Given the description of an element on the screen output the (x, y) to click on. 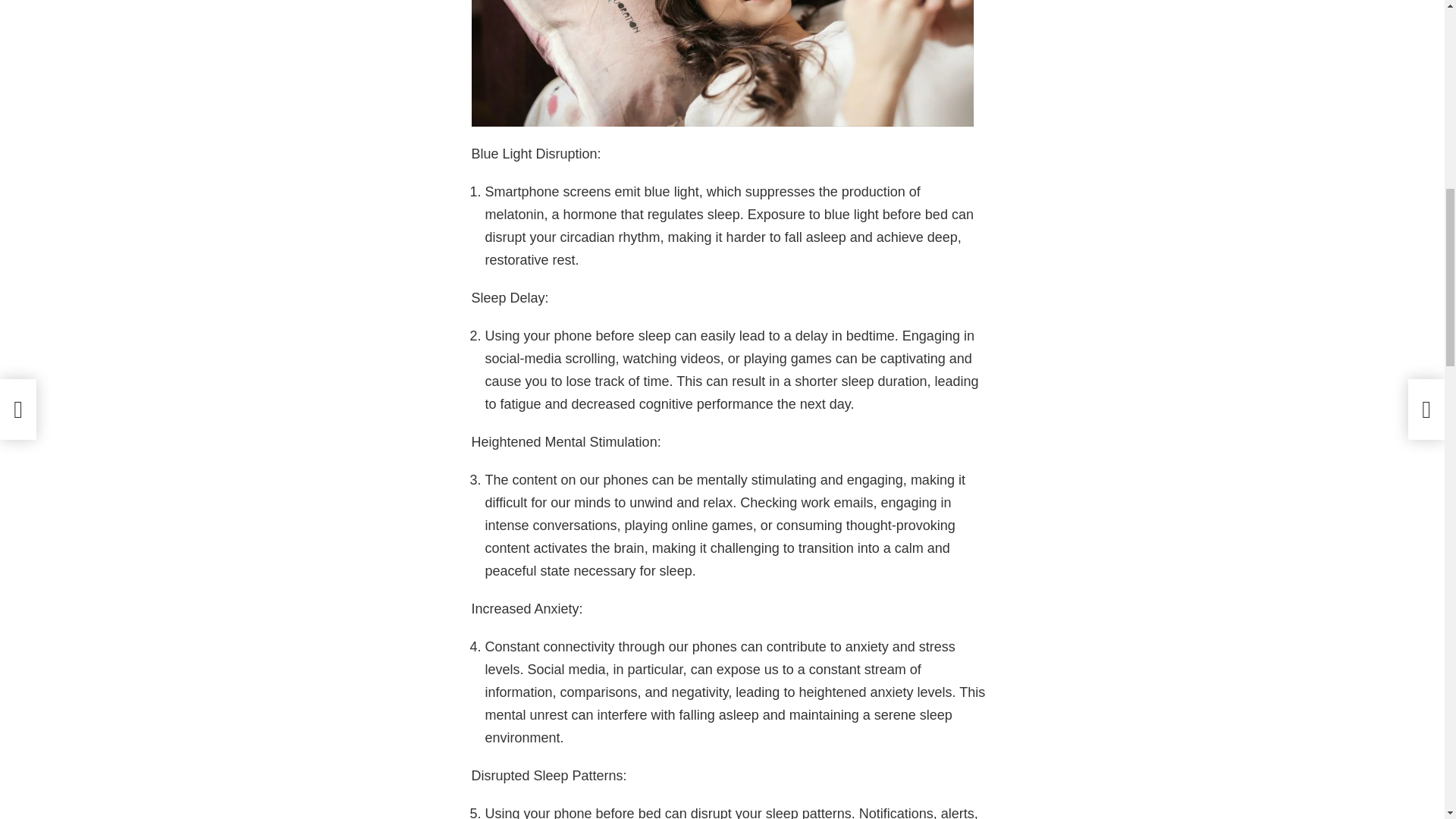
10 Compelling Reasons to Avoid Your Phone Before Sleep 1 (722, 63)
